Given the description of an element on the screen output the (x, y) to click on. 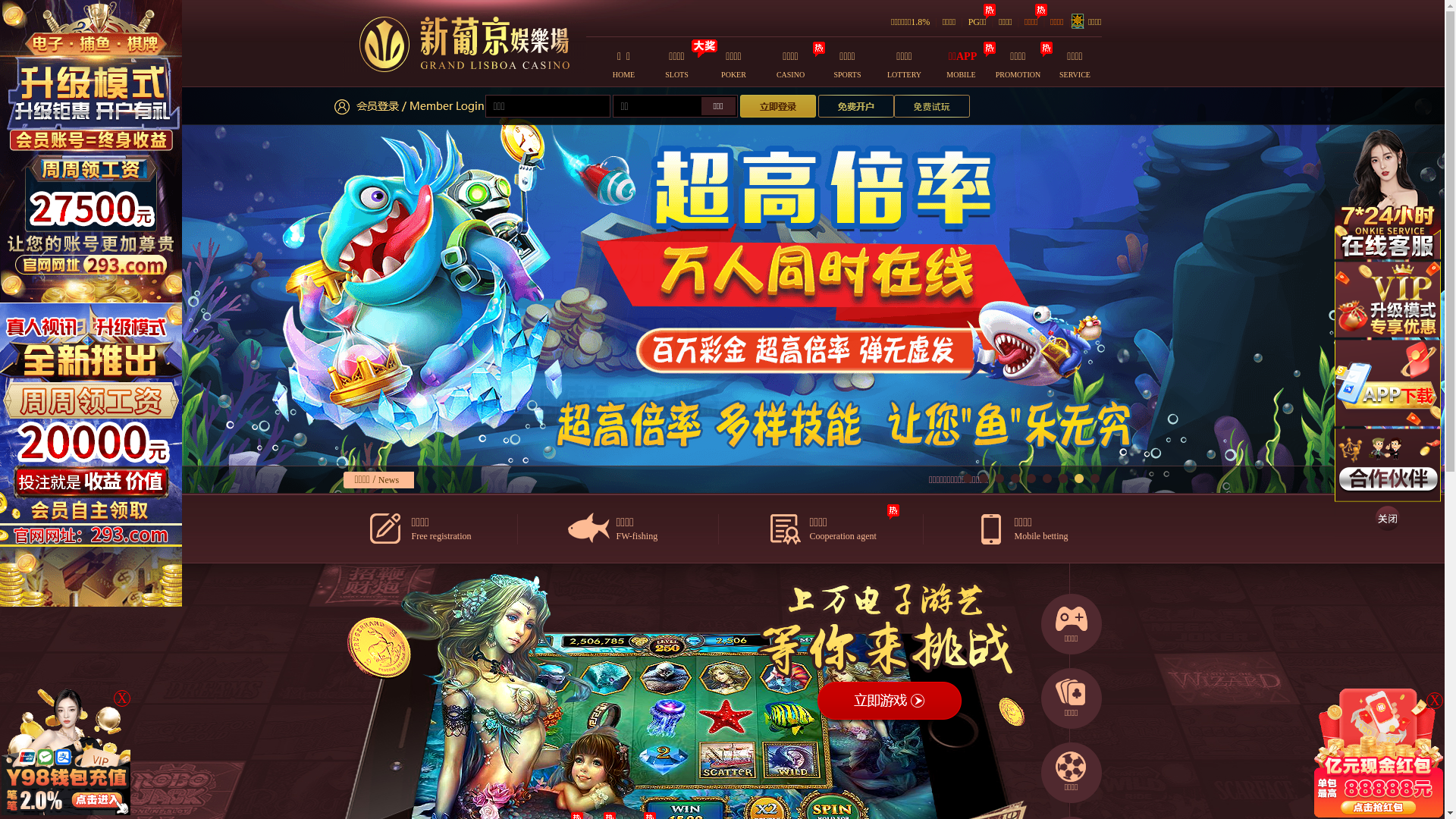
X Element type: text (1434, 700)
X Element type: text (121, 698)
